Given the description of an element on the screen output the (x, y) to click on. 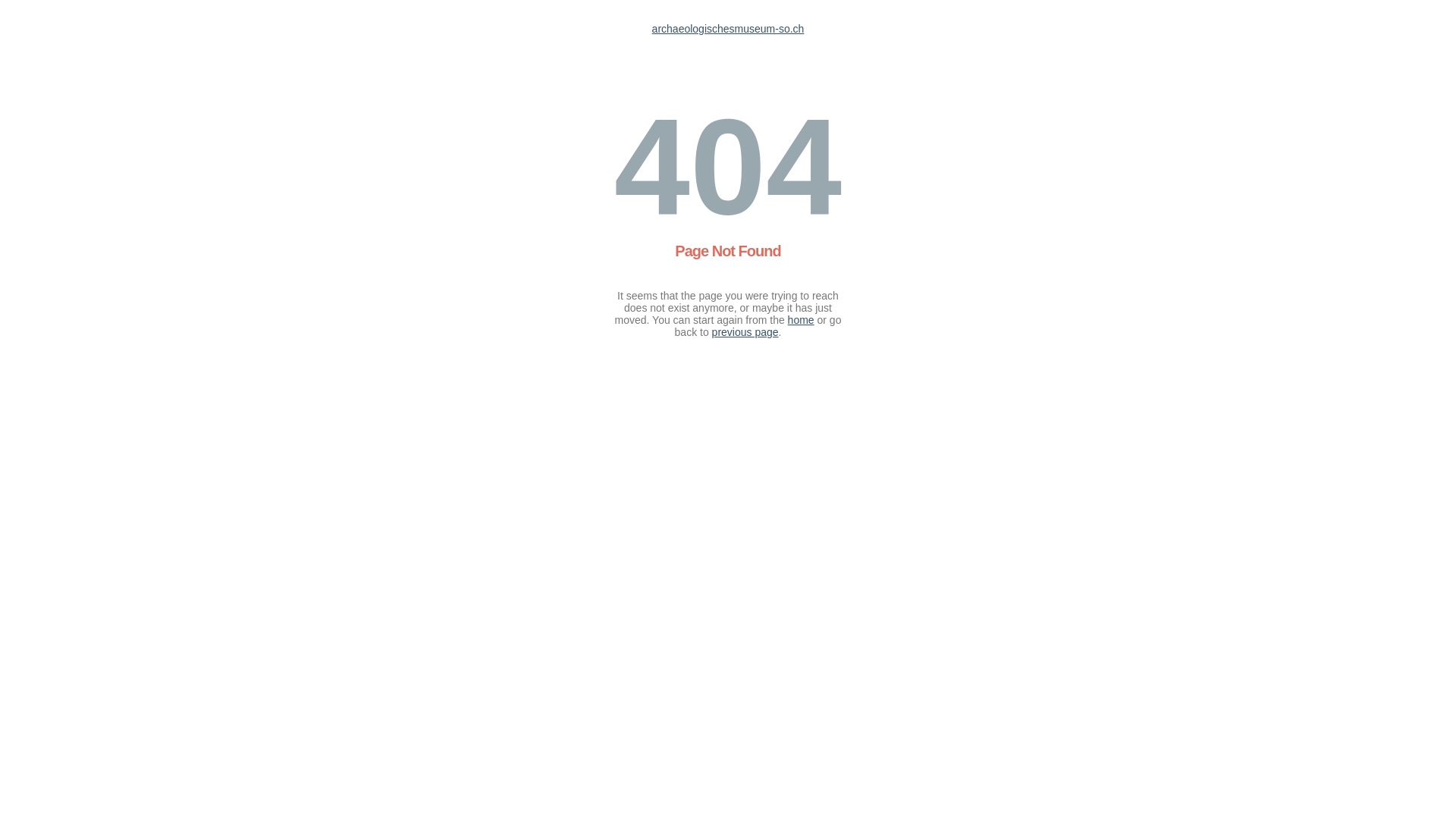
home Element type: text (800, 319)
previous page Element type: text (745, 332)
archaeologischesmuseum-so.ch Element type: text (728, 28)
